Given the description of an element on the screen output the (x, y) to click on. 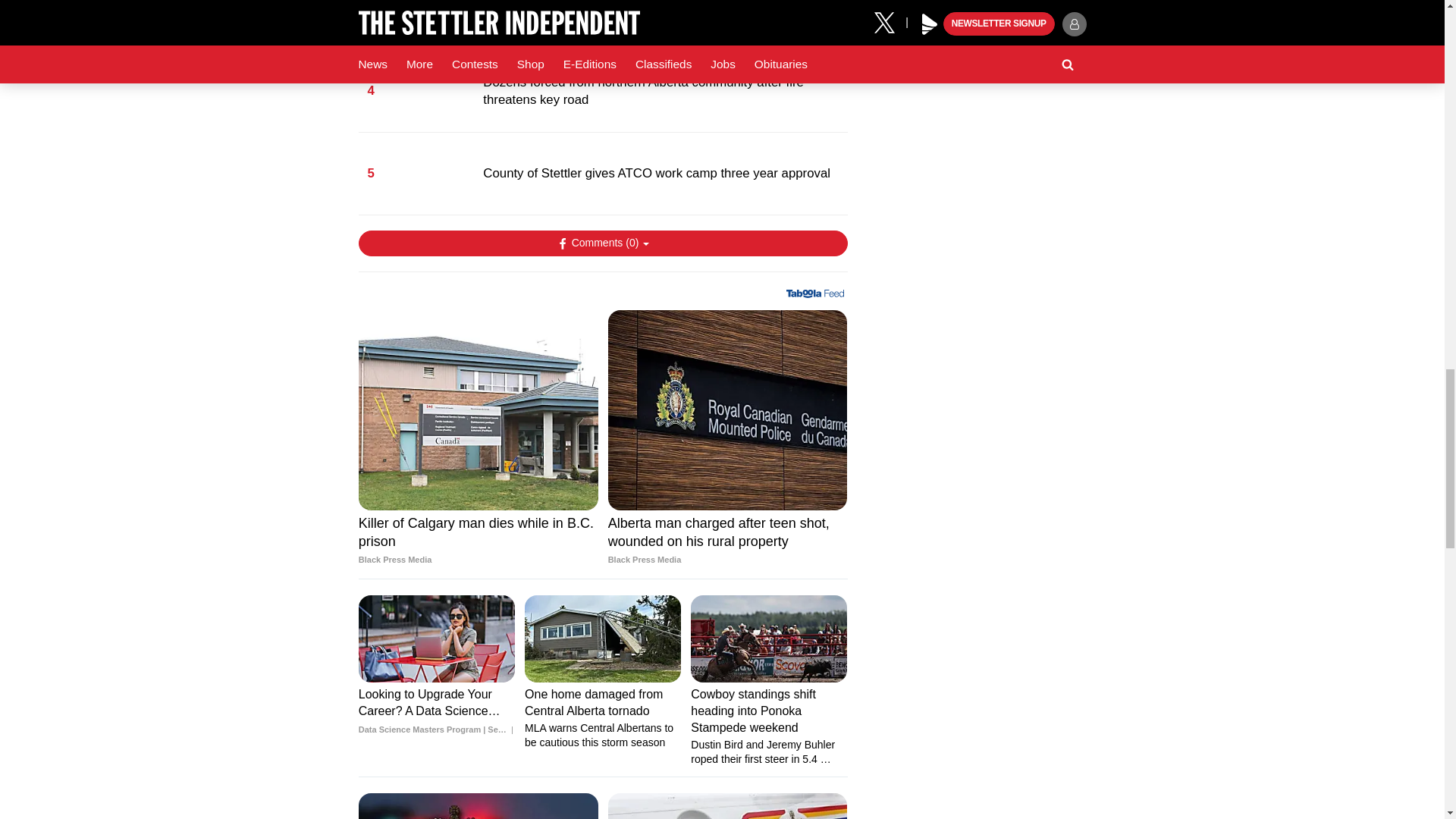
Show Comments (602, 243)
Killer of Calgary man dies while in B.C. prison (478, 409)
One home damaged from Central Alberta tornado (602, 639)
Killer of Calgary man dies while in B.C. prison (478, 541)
